Given the description of an element on the screen output the (x, y) to click on. 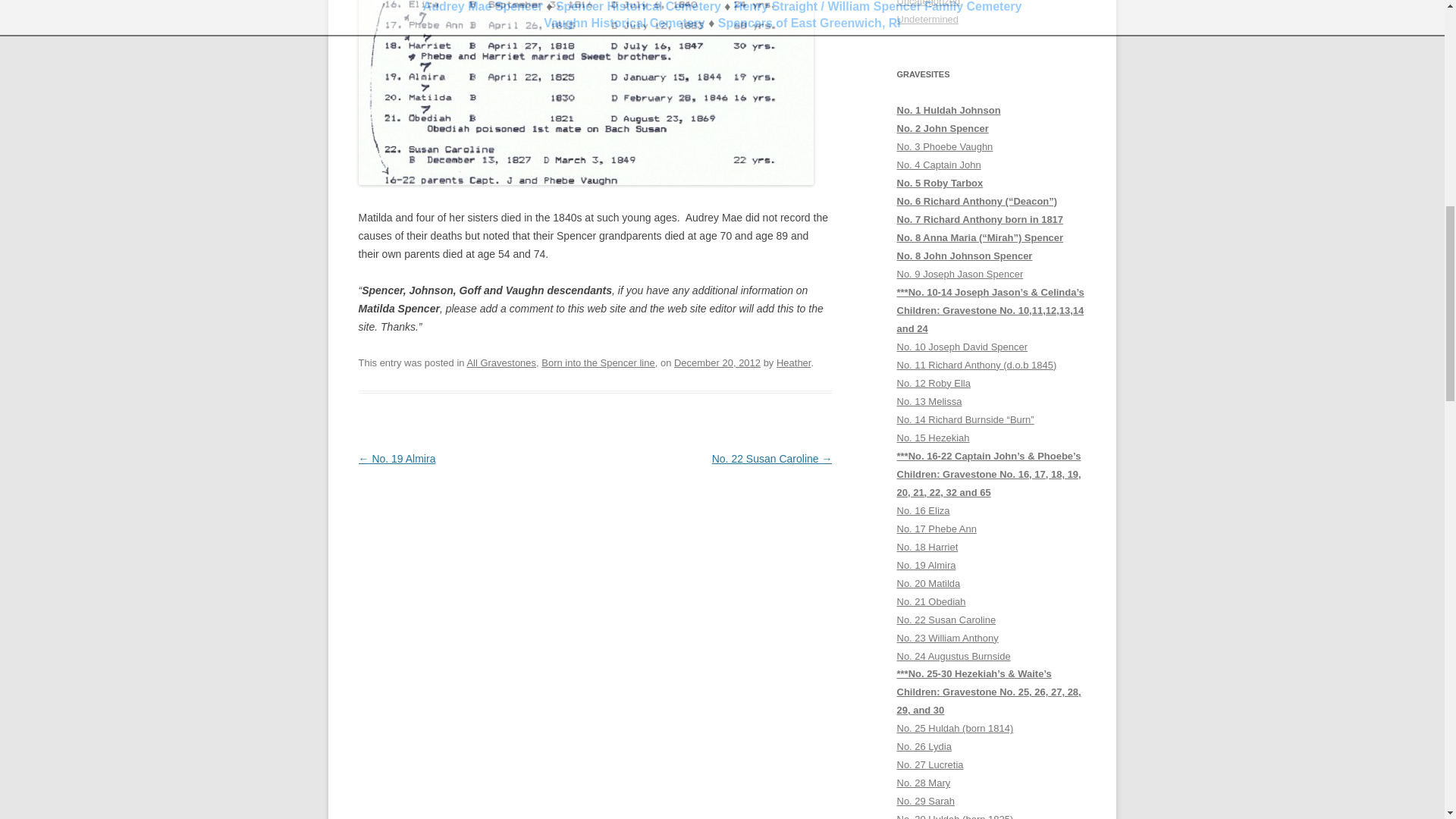
Permanent link to No. 9 Joseph Jason Spencer (959, 274)
7:53 pm (717, 362)
No. 2 John Spencer (942, 128)
Permanent link to No. 3 Phoebe Vaughn (944, 146)
Born into the Spencer line, (599, 362)
Heather (793, 362)
Permanent link to No. 5 Roby Tarbox (939, 183)
Permanent link to No. 1 Huldah Johnson (948, 110)
No. 3 Phoebe Vaughn (944, 146)
Permanent link to No. 7 Richard Anthony born in 1817 (979, 219)
All Gravestones (500, 362)
Permanent link to No. 8  John Johnson Spencer (964, 255)
No. 1 Huldah Johnson (948, 110)
Undetermined (927, 19)
December 20, 2012 (717, 362)
